Given the description of an element on the screen output the (x, y) to click on. 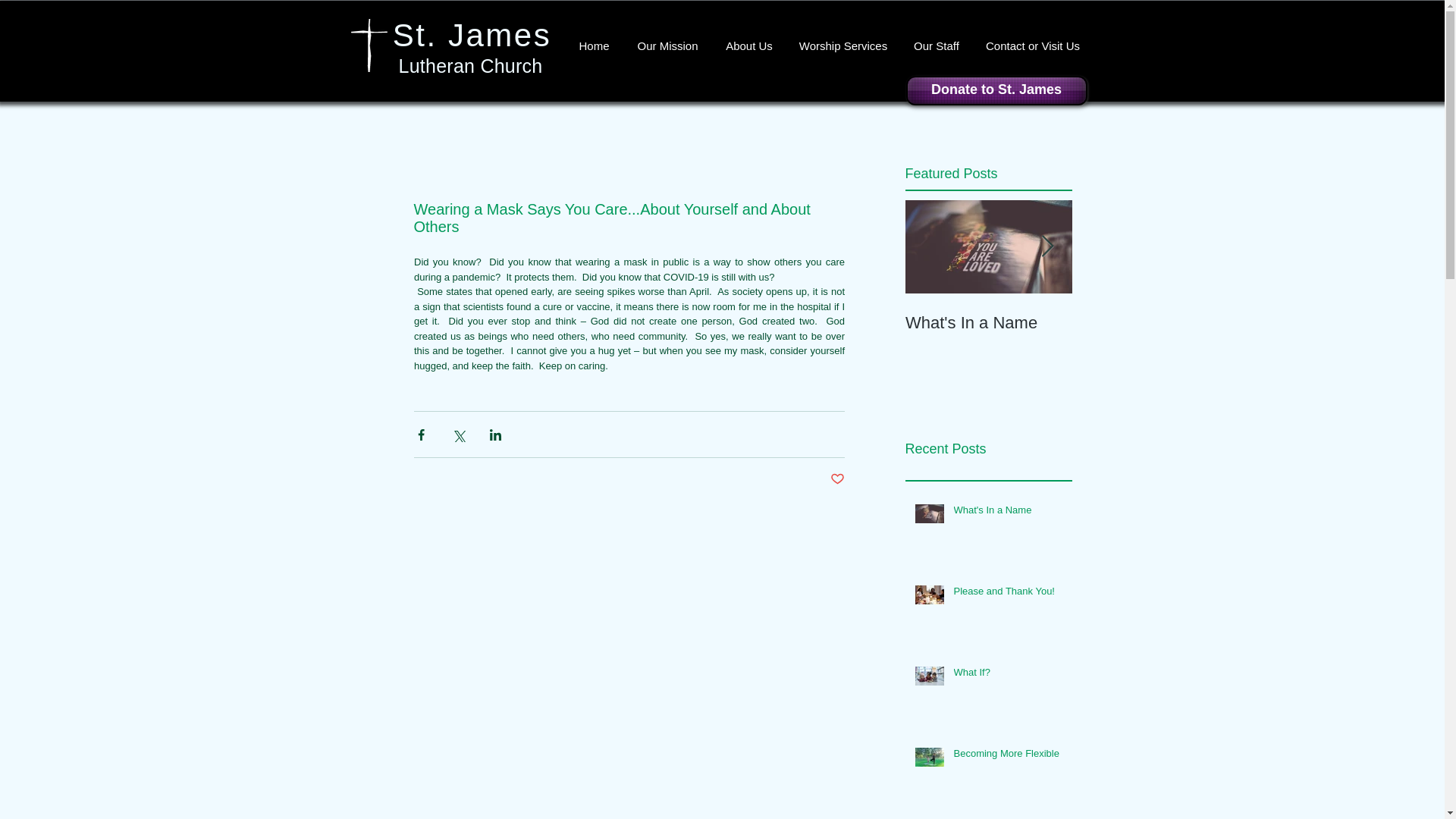
Please and Thank You! (1007, 594)
Contact or Visit Us (1032, 45)
St. James (472, 35)
What's In a Name (988, 322)
Home (594, 45)
Lutheran Church (470, 65)
What's In a Name (1007, 513)
About Us (749, 45)
Donate to St. James (995, 90)
Our Mission (668, 45)
